Given the description of an element on the screen output the (x, y) to click on. 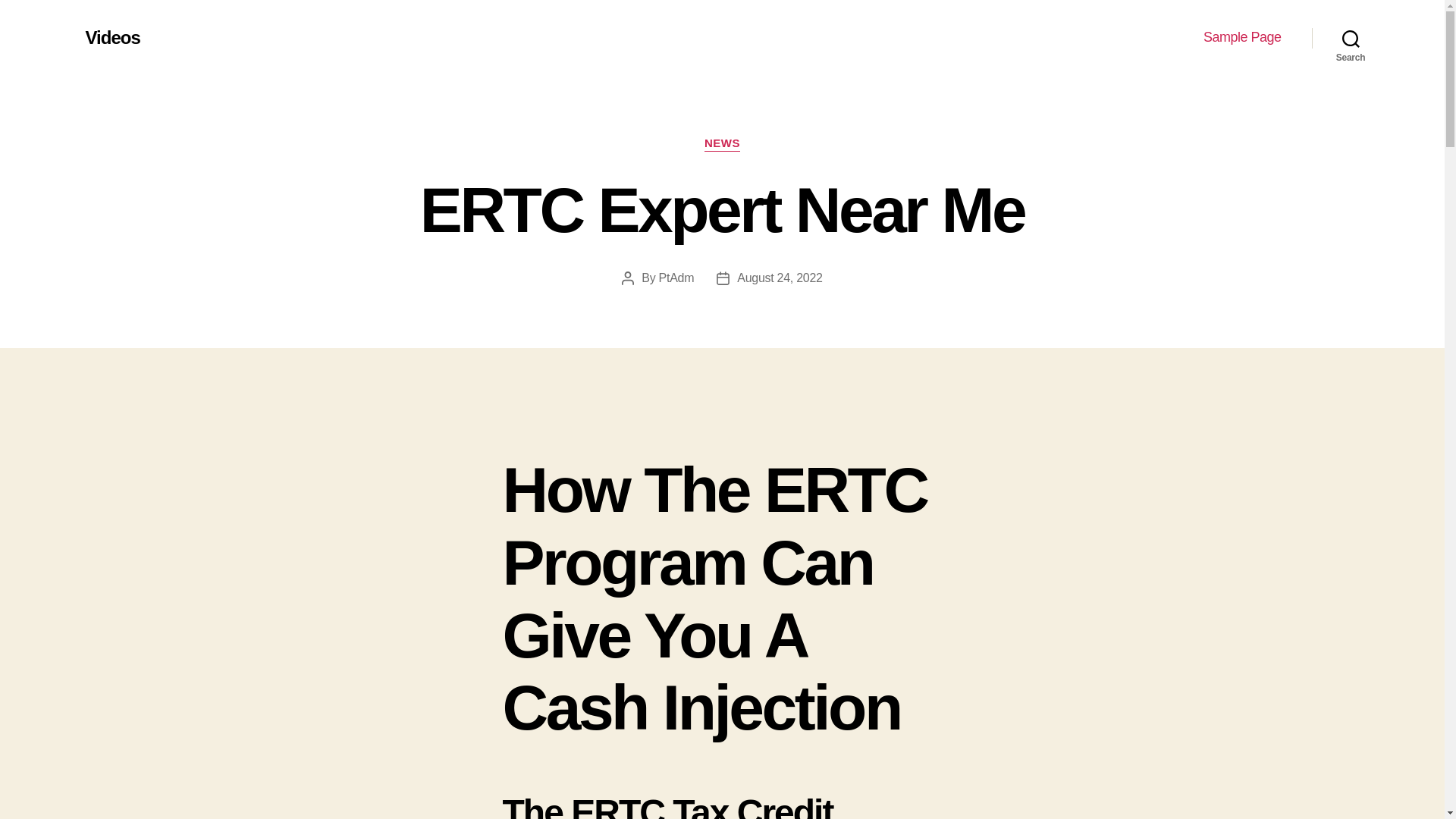
Search (1350, 37)
August 24, 2022 (779, 277)
NEWS (721, 143)
PtAdm (676, 277)
Videos (111, 37)
Sample Page (1242, 37)
